Given the description of an element on the screen output the (x, y) to click on. 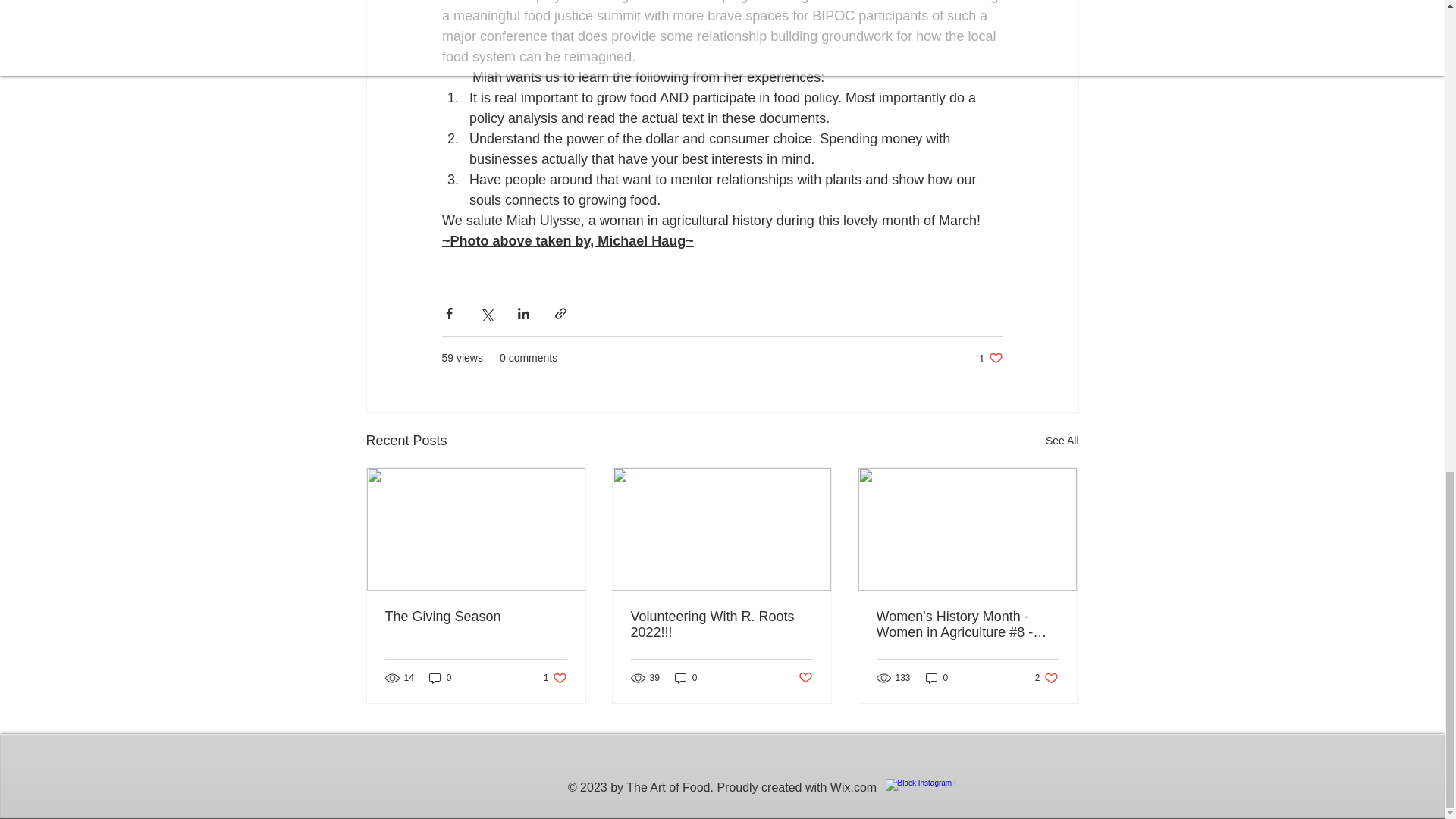
Post not marked as liked (990, 358)
Volunteering With R. Roots 2022!!! (1046, 677)
0 (555, 677)
See All (804, 677)
0 (721, 624)
The Giving Season (685, 677)
0 (1061, 440)
